Given the description of an element on the screen output the (x, y) to click on. 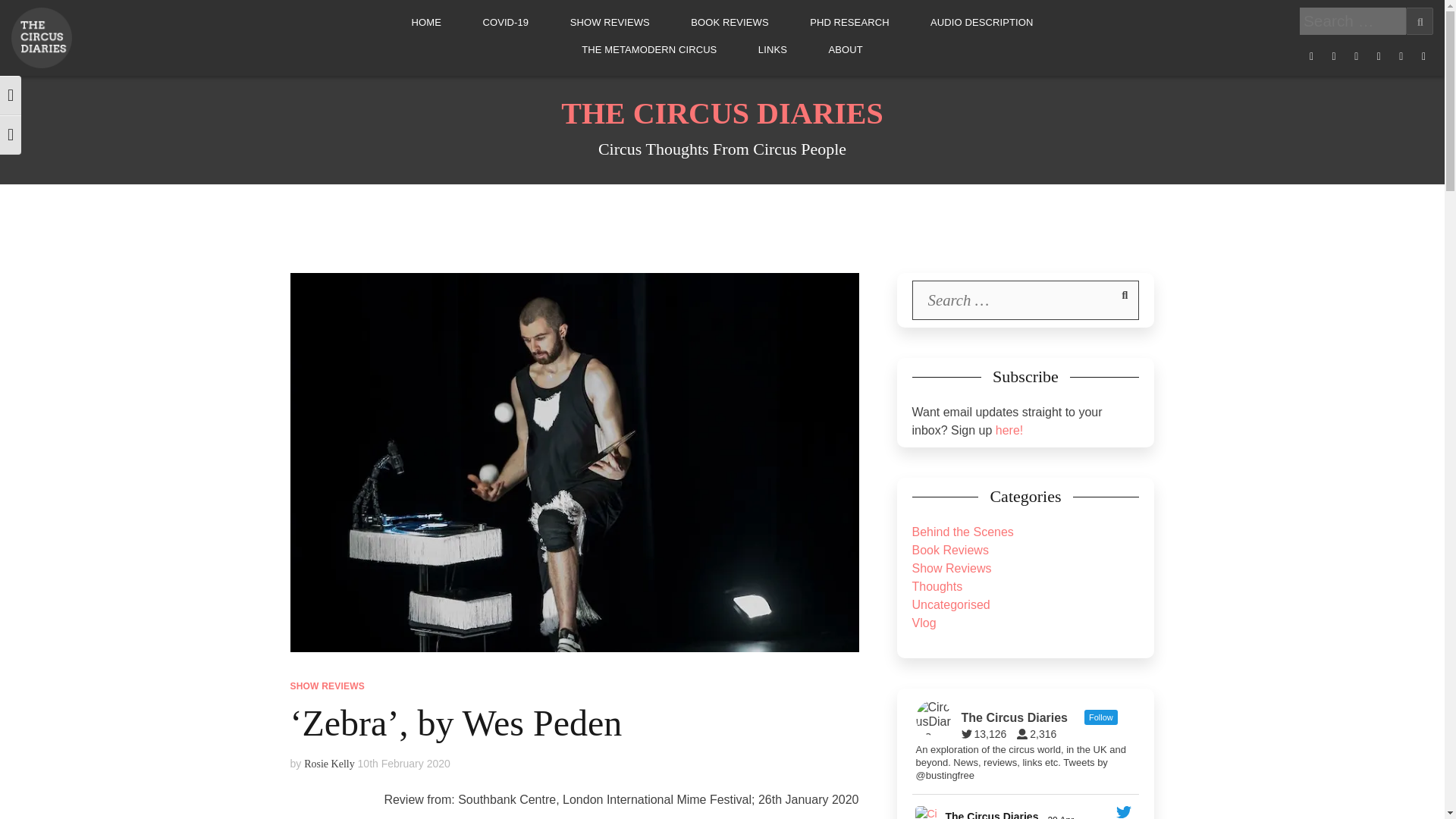
PHD RESEARCH (849, 22)
SHOW REVIEWS (326, 685)
BOOK REVIEWS (729, 22)
COVID-19 (505, 22)
LINKS (772, 49)
SHOW REVIEWS (609, 22)
HOME (426, 22)
13,126 Tweets (987, 734)
AUDIO DESCRIPTION (981, 22)
ABOUT (844, 49)
THE CIRCUS DIARIES (721, 113)
THE METAMODERN CIRCUS (648, 49)
2,316 Followers (1040, 734)
Rosie Kelly (329, 763)
